Given the description of an element on the screen output the (x, y) to click on. 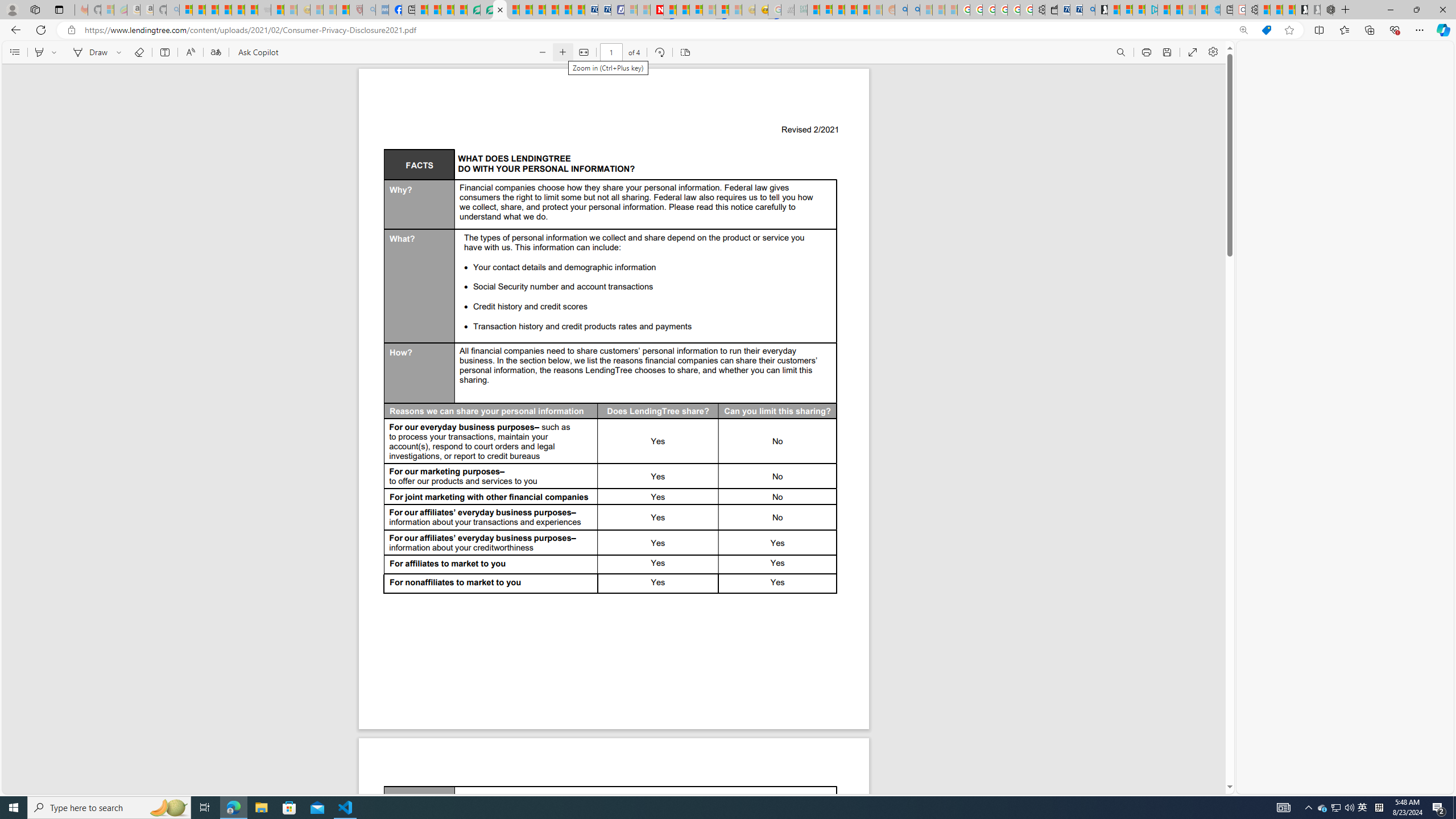
Zoom in (Ctrl+Plus key) (562, 52)
New Report Confirms 2023 Was Record Hot | Watch (237, 9)
LendingTree - Compare Lenders (473, 9)
